Given the description of an element on the screen output the (x, y) to click on. 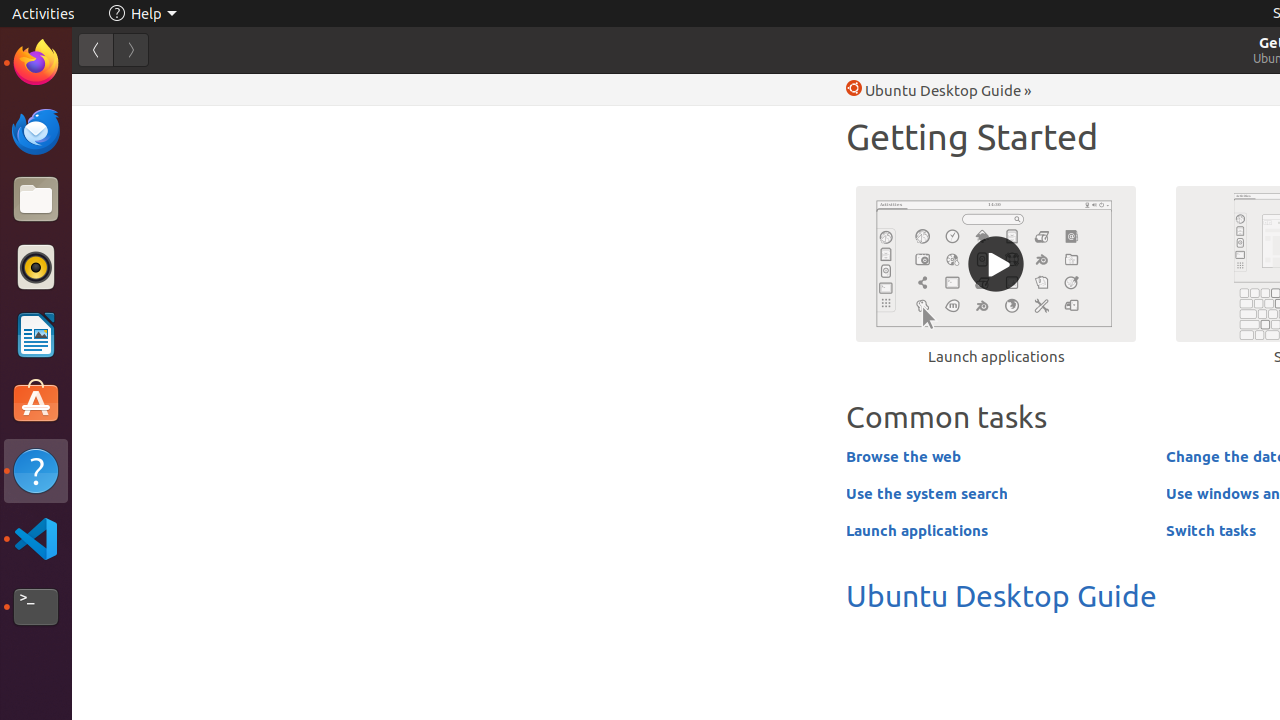
Launch applications Element type: link (996, 275)
Firefox Web Browser Element type: push-button (36, 63)
